Given the description of an element on the screen output the (x, y) to click on. 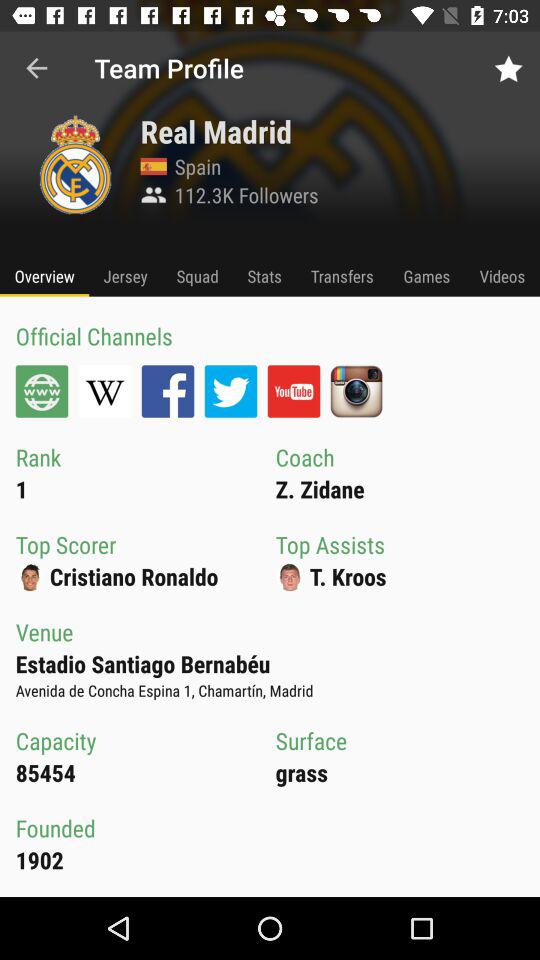
press the item above official channels icon (44, 276)
